Given the description of an element on the screen output the (x, y) to click on. 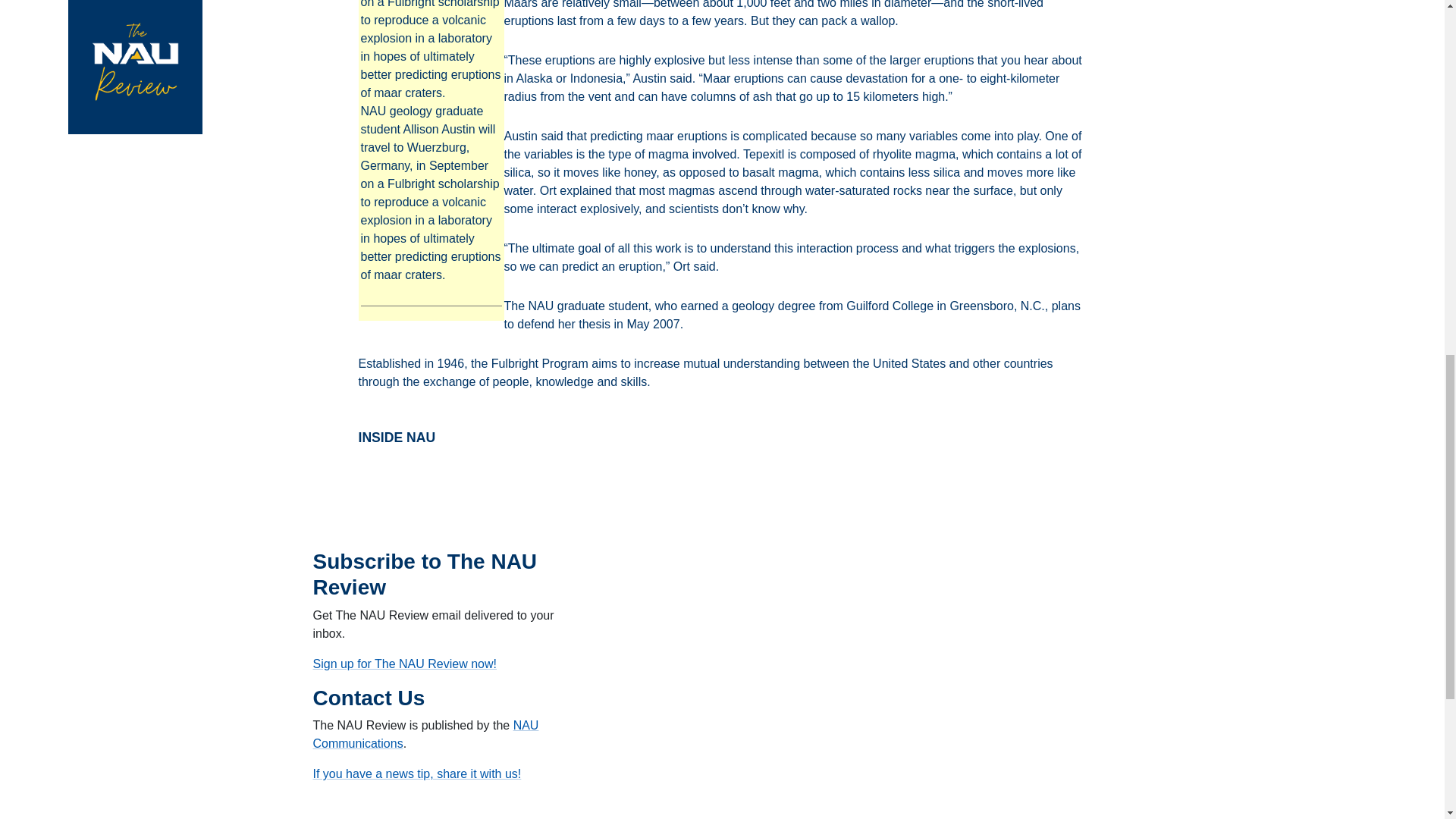
NAU Communications (425, 734)
If you have a news tip, share it with us! (417, 773)
Sign up for The NAU Review now! (404, 663)
